Given the description of an element on the screen output the (x, y) to click on. 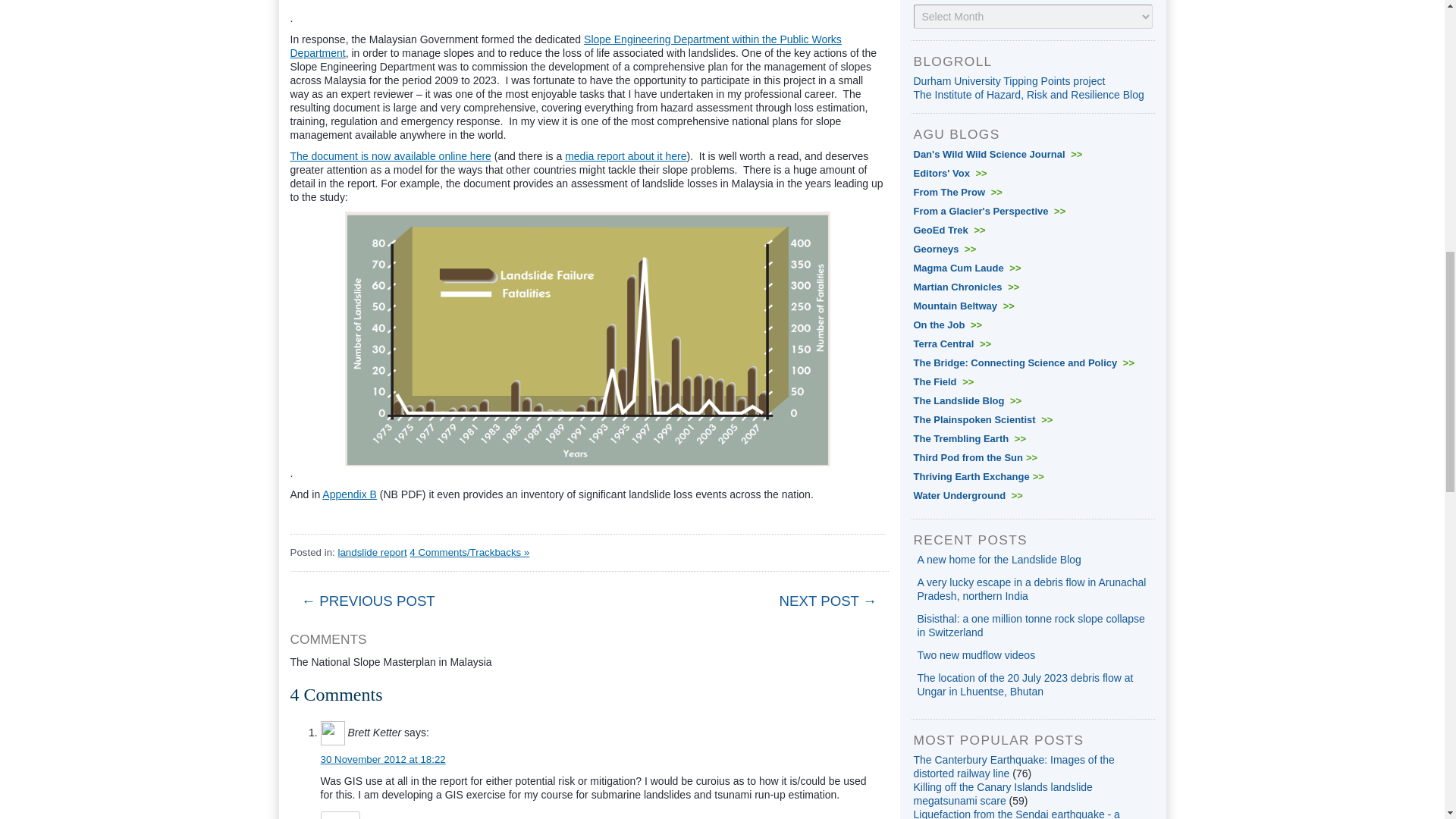
media report about it here (624, 155)
The Institute of Hazard, Risk and Resilience Blog (1027, 94)
Take a look at this blog, run by my host institute (1027, 94)
Durham University Tipping Points project (1008, 80)
landslide report (371, 552)
Reply (339, 815)
Appendix B (349, 494)
30 November 2012 at 18:22 (382, 758)
The document is now available online here (389, 155)
